Given the description of an element on the screen output the (x, y) to click on. 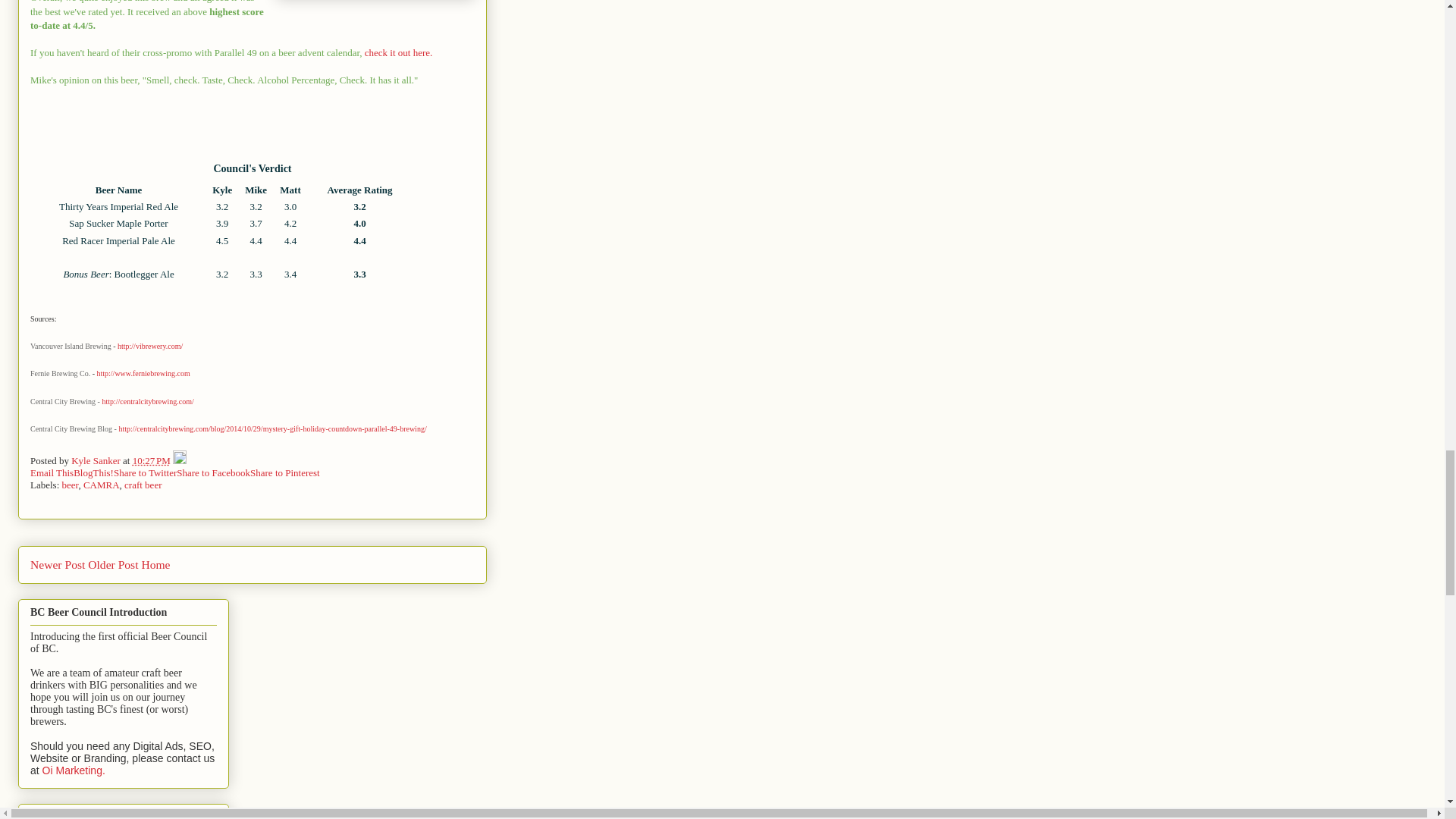
Home (155, 563)
Share to Pinterest (285, 472)
Older Post (112, 563)
beer (70, 484)
Share to Pinterest (285, 472)
Share to Twitter (144, 472)
author profile (96, 460)
check it out here. (397, 52)
Kyle Sanker (96, 460)
Newer Post (57, 563)
Edit Post (179, 460)
BlogThis! (93, 472)
Newer Post (57, 563)
craft beer (142, 484)
